Given the description of an element on the screen output the (x, y) to click on. 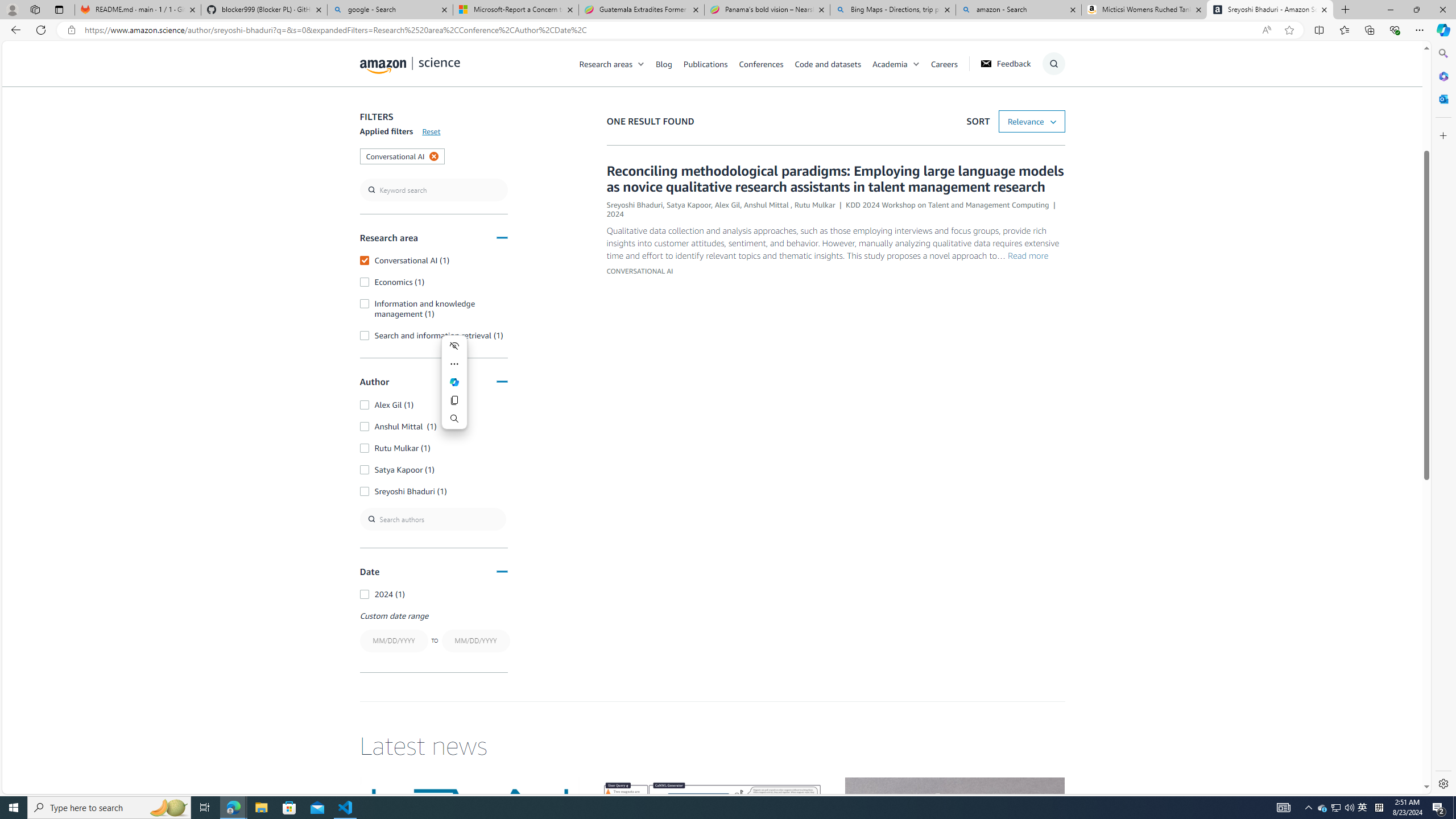
Microsoft-Report a Concern to Bing (515, 9)
Search authors (432, 518)
CONVERSATIONAL AI (638, 271)
mm/dd/yyyy (475, 640)
Sreyoshi Bhaduri - Amazon Science (1270, 9)
Code and datasets (833, 63)
Read more (1027, 255)
